Given the description of an element on the screen output the (x, y) to click on. 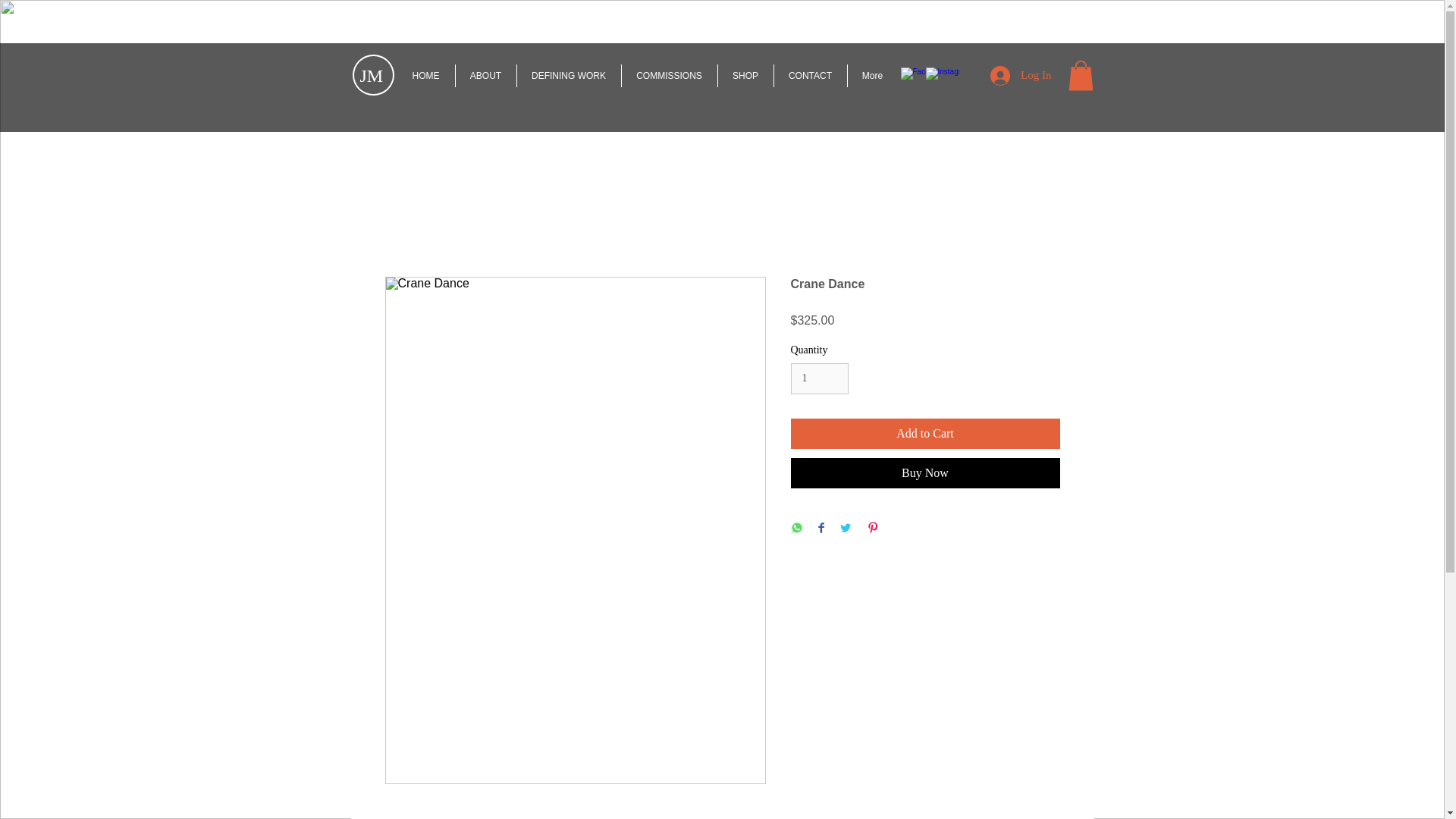
Log In (1020, 75)
ABOUT (484, 75)
Buy Now (924, 472)
Add to Cart (924, 433)
DEFINING WORK (568, 75)
HOME (425, 75)
JM (370, 75)
SHOP (745, 75)
CONTACT (809, 75)
1 (818, 378)
